Given the description of an element on the screen output the (x, y) to click on. 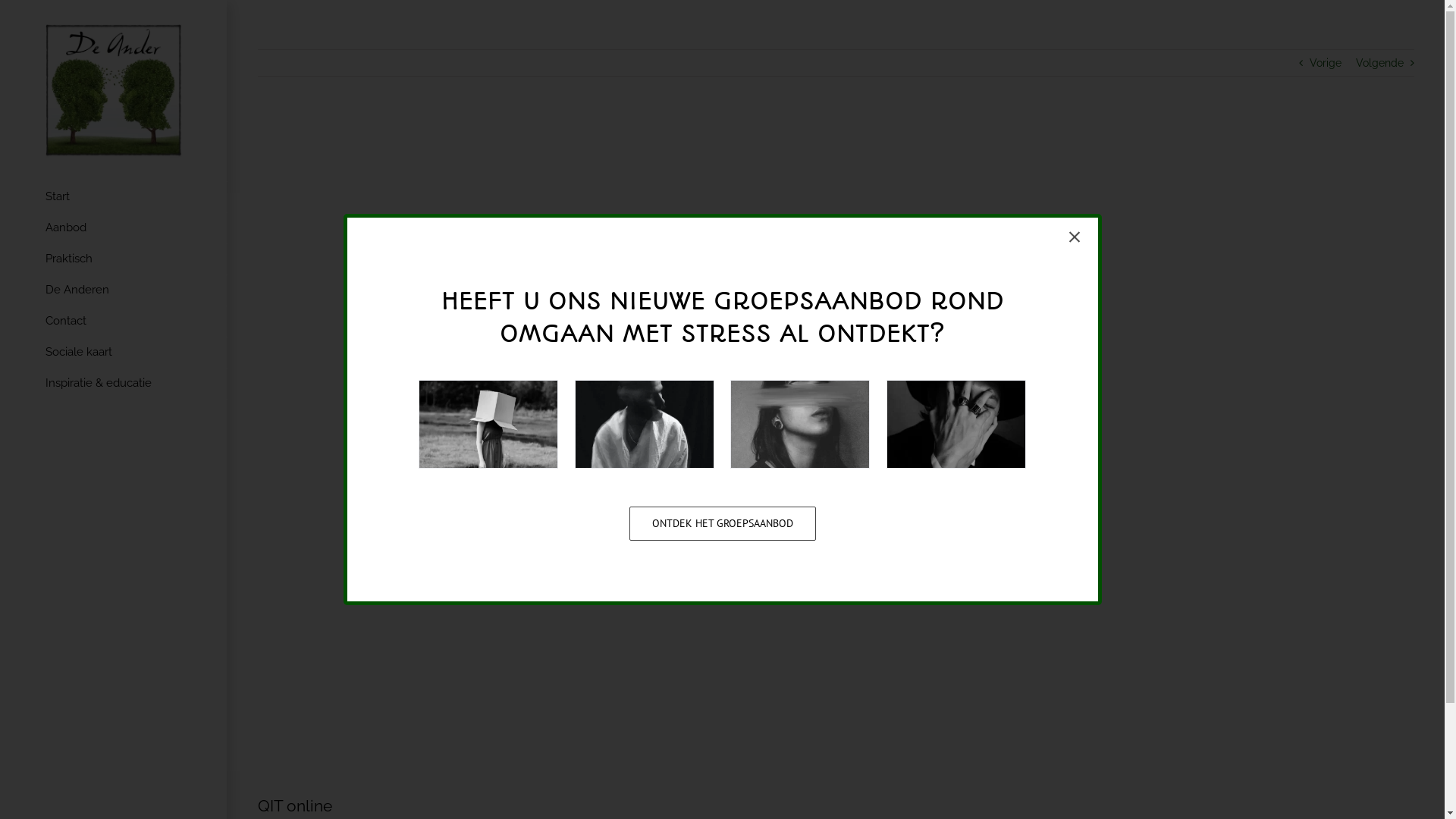
Contact Element type: text (113, 321)
YouTube video player Element type: hover (835, 447)
De Anderen Element type: text (113, 290)
Start Element type: text (113, 197)
Aanbod Element type: text (113, 228)
Volgende Element type: text (1379, 62)
ONTDEK HET GROEPSAANBOD Element type: text (722, 523)
Sociale kaart Element type: text (113, 352)
Praktisch Element type: text (113, 259)
Inspiratie & educatie Element type: text (113, 383)
Vorige Element type: text (1325, 62)
